Given the description of an element on the screen output the (x, y) to click on. 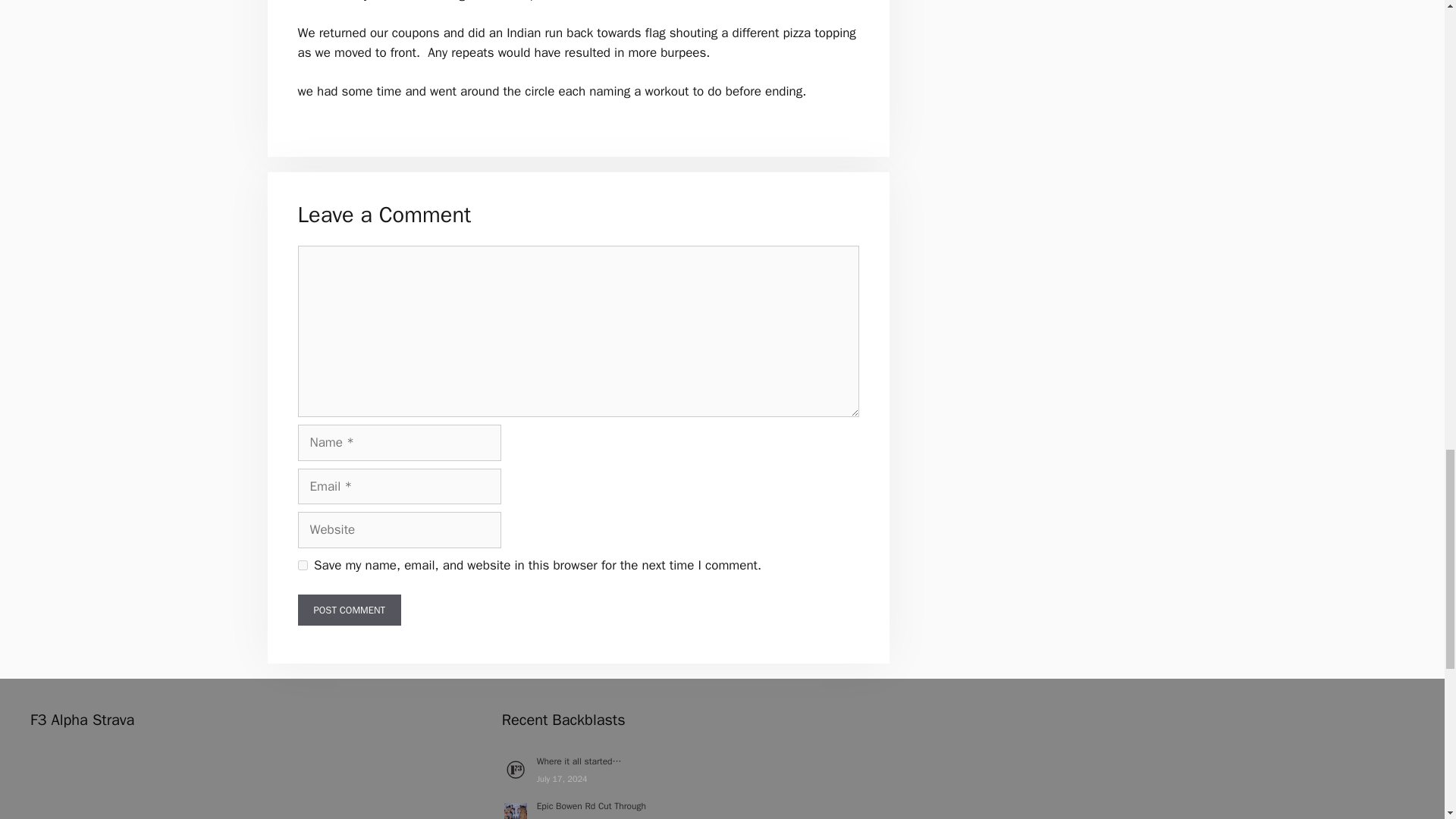
yes (302, 565)
Post Comment (349, 610)
